Given the description of an element on the screen output the (x, y) to click on. 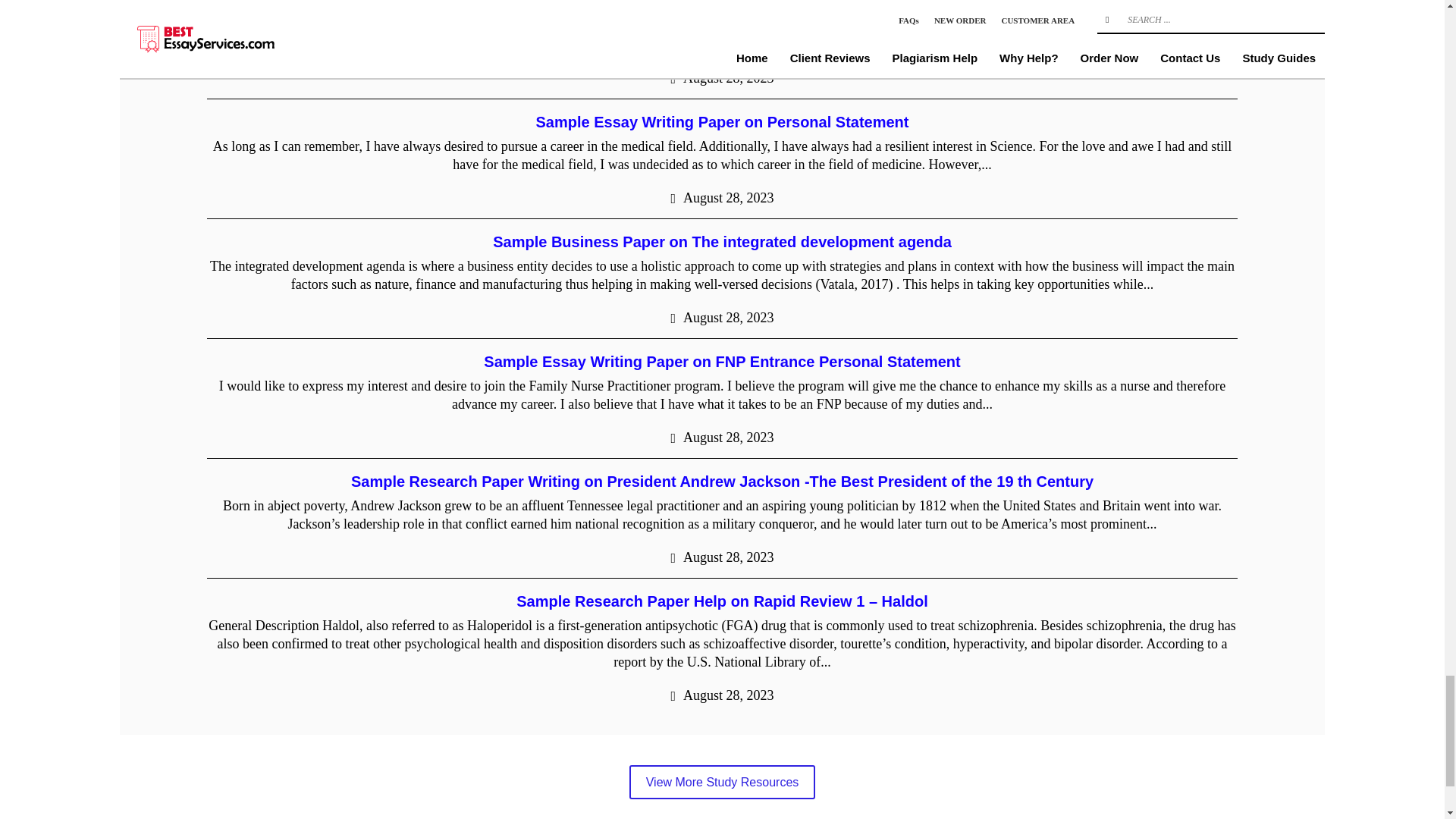
Sample Essay Writing Paper on Interview Spreadsheet (721, 5)
